Given the description of an element on the screen output the (x, y) to click on. 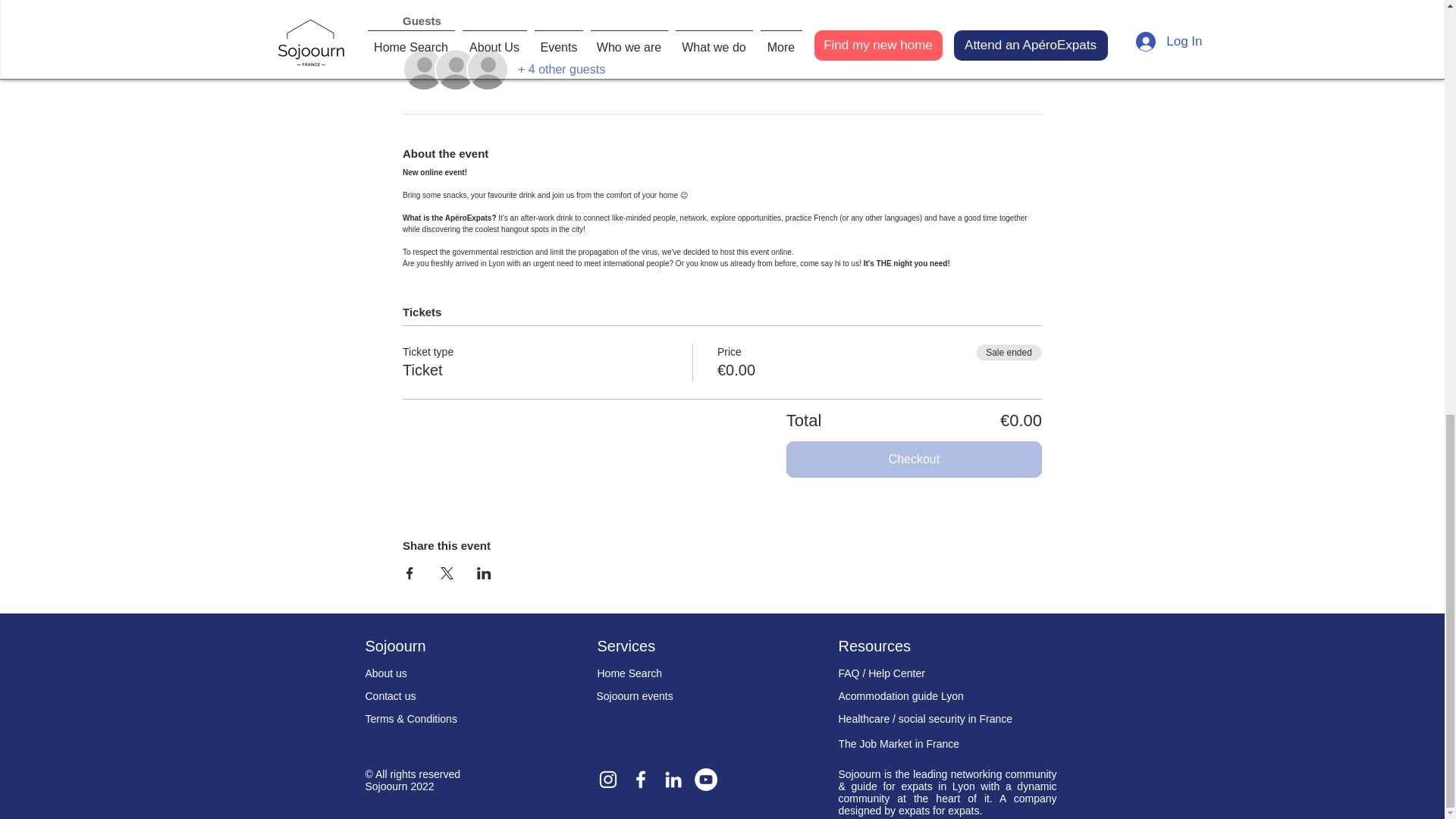
Home Search (629, 673)
Sojoourn events (633, 695)
About us (386, 673)
Checkout (914, 459)
Contact us (390, 695)
